Given the description of an element on the screen output the (x, y) to click on. 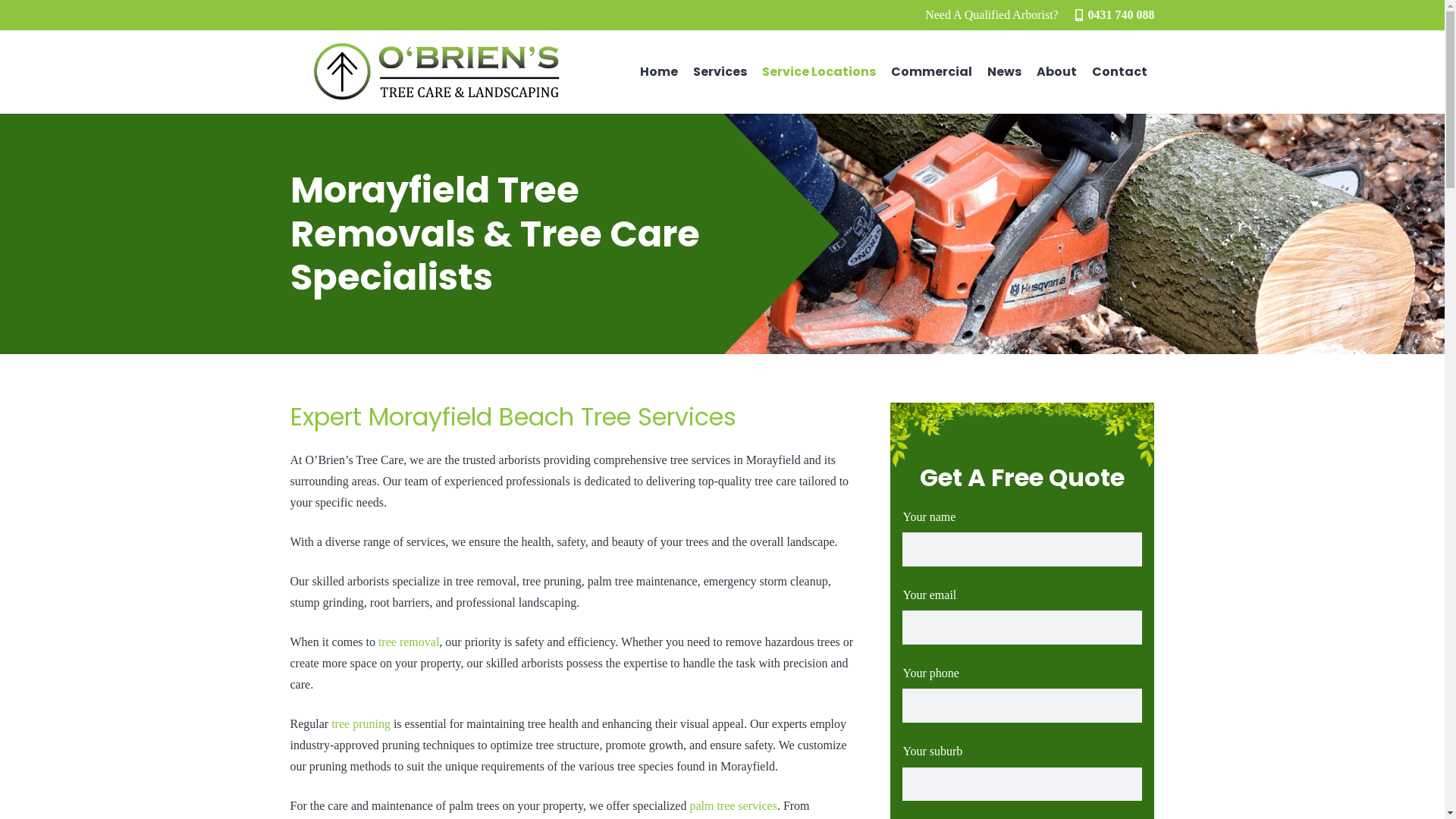
Home Element type: text (658, 71)
Tree Services Element type: text (729, 443)
Privacy Policy Element type: text (639, 783)
Emergency Response Element type: text (750, 525)
Skid Steer Element type: text (722, 689)
Tree Removal Element type: text (731, 470)
Root Management Element type: text (743, 607)
Terms & Conditions Element type: text (545, 783)
Land Clearing Element type: text (733, 661)
0431 740 088 Element type: text (1114, 14)
tree removal Element type: text (408, 641)
Stump Grinding Element type: text (737, 580)
Services Element type: text (719, 71)
0431 740 088 Element type: text (369, 566)
Mulching Services Element type: text (742, 634)
Commercial Element type: text (931, 71)
About Element type: text (1056, 71)
News Element type: text (1004, 71)
Palm Tree Removal Element type: text (746, 552)
Tree Pruning Element type: text (729, 498)
palm tree services Element type: text (733, 805)
Contact Element type: text (1119, 71)
tree pruning Element type: text (360, 723)
Service Locations Element type: text (818, 71)
